Given the description of an element on the screen output the (x, y) to click on. 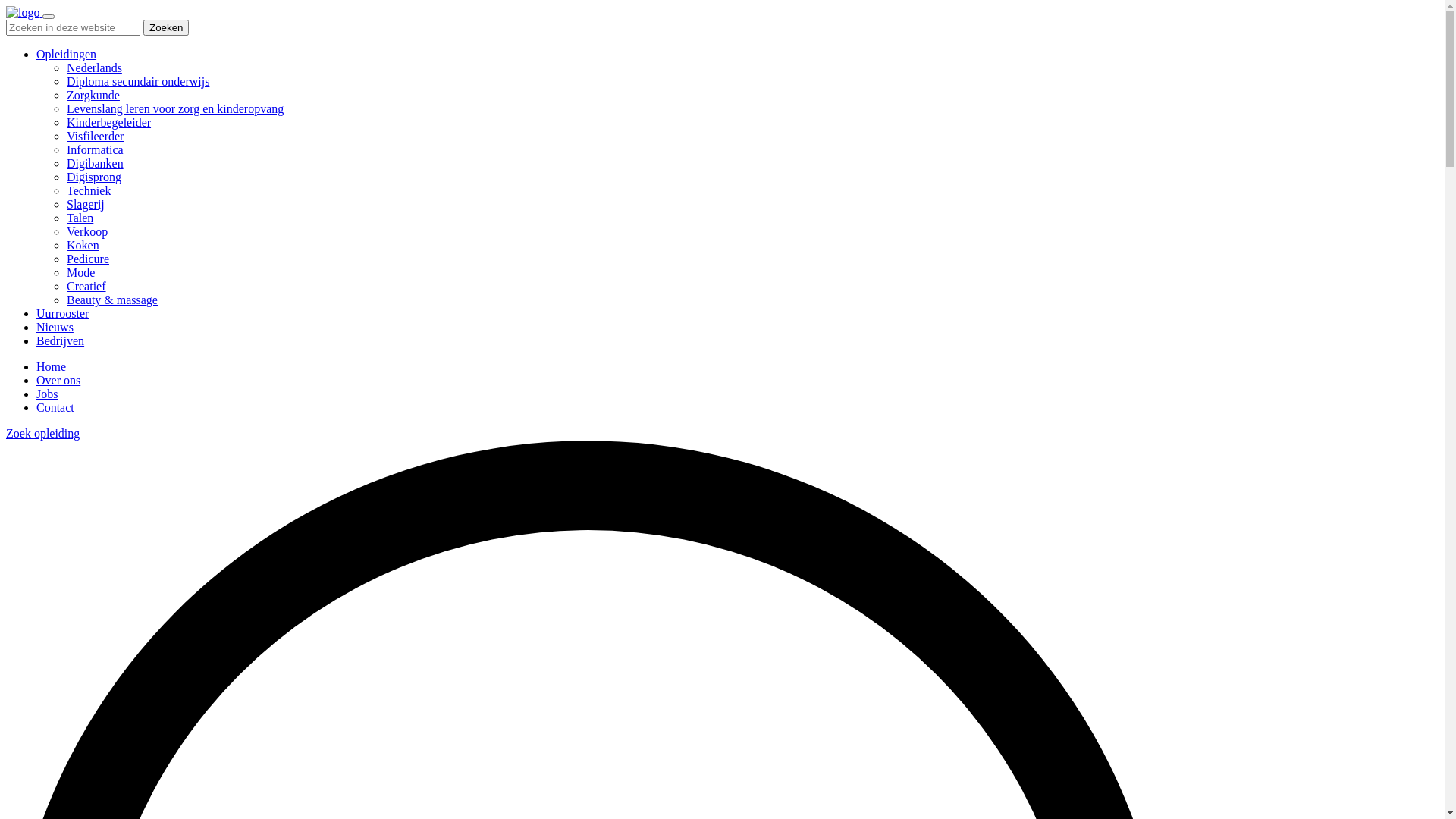
Levenslang leren voor zorg en kinderopvang Element type: text (174, 108)
Nieuws Element type: text (54, 326)
Bedrijven Element type: text (60, 340)
Mode Element type: text (80, 272)
Informatica Element type: text (94, 149)
Techniek Element type: text (88, 190)
Nederlands Element type: text (94, 67)
Zoeken Element type: text (165, 27)
Opleidingen Element type: text (66, 53)
Pedicure Element type: text (87, 258)
Beauty & massage Element type: text (111, 299)
Kinderbegeleider Element type: text (108, 122)
Home Element type: text (50, 366)
Over ons Element type: text (58, 379)
Koken Element type: text (82, 244)
Creatief Element type: text (86, 285)
Visfileerder Element type: text (94, 135)
Verkoop Element type: text (86, 231)
Contact Element type: text (55, 407)
Digisprong Element type: text (93, 176)
Digibanken Element type: text (94, 162)
Zorgkunde Element type: text (92, 94)
Talen Element type: text (79, 217)
Uurrooster Element type: text (62, 313)
Diploma secundair onderwijs Element type: text (137, 81)
Jobs Element type: text (46, 393)
Slagerij Element type: text (85, 203)
